Given the description of an element on the screen output the (x, y) to click on. 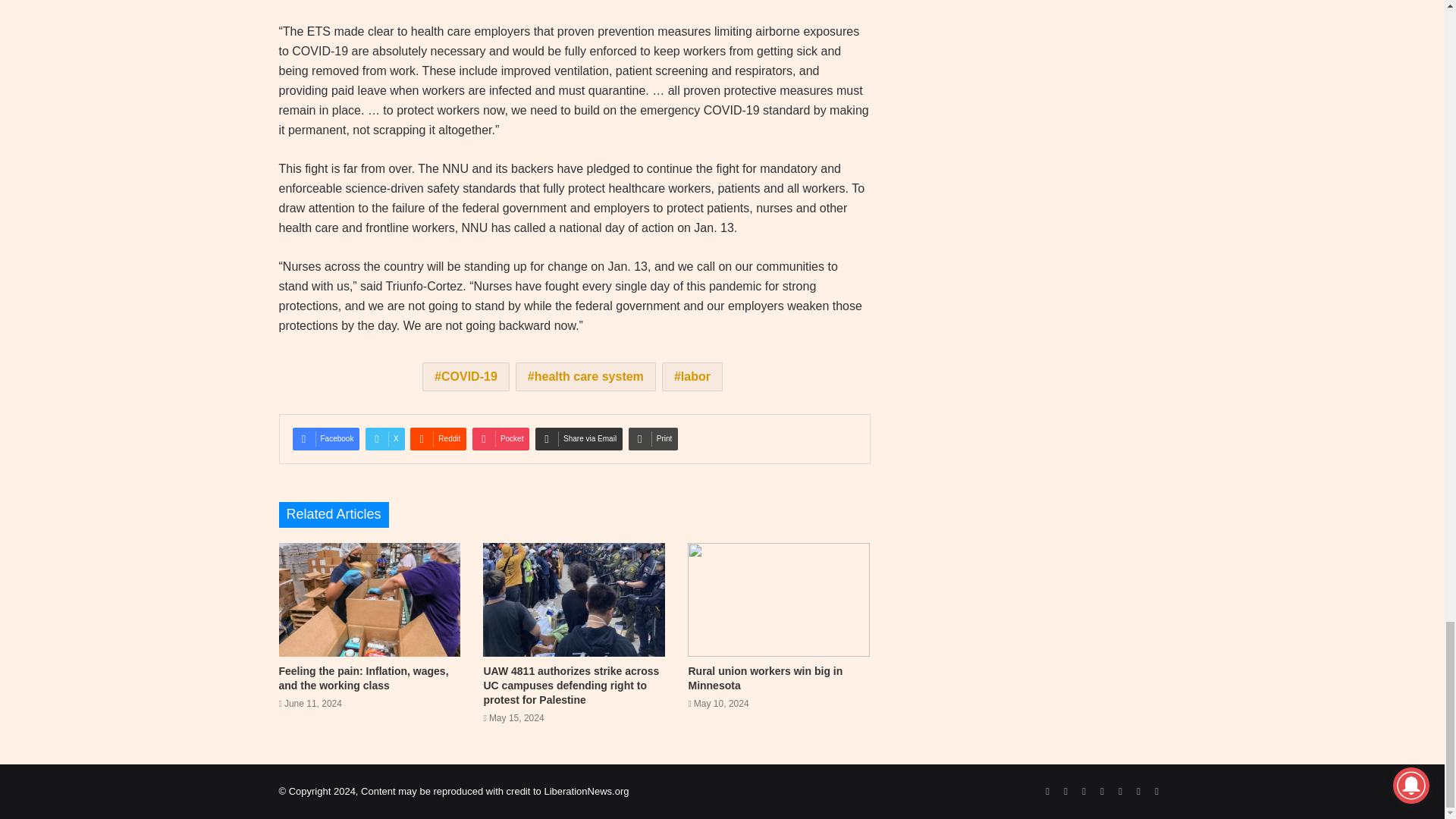
Reddit (437, 438)
Pocket (500, 438)
Facebook (325, 438)
Print (653, 438)
Share via Email (579, 438)
X (384, 438)
